Given the description of an element on the screen output the (x, y) to click on. 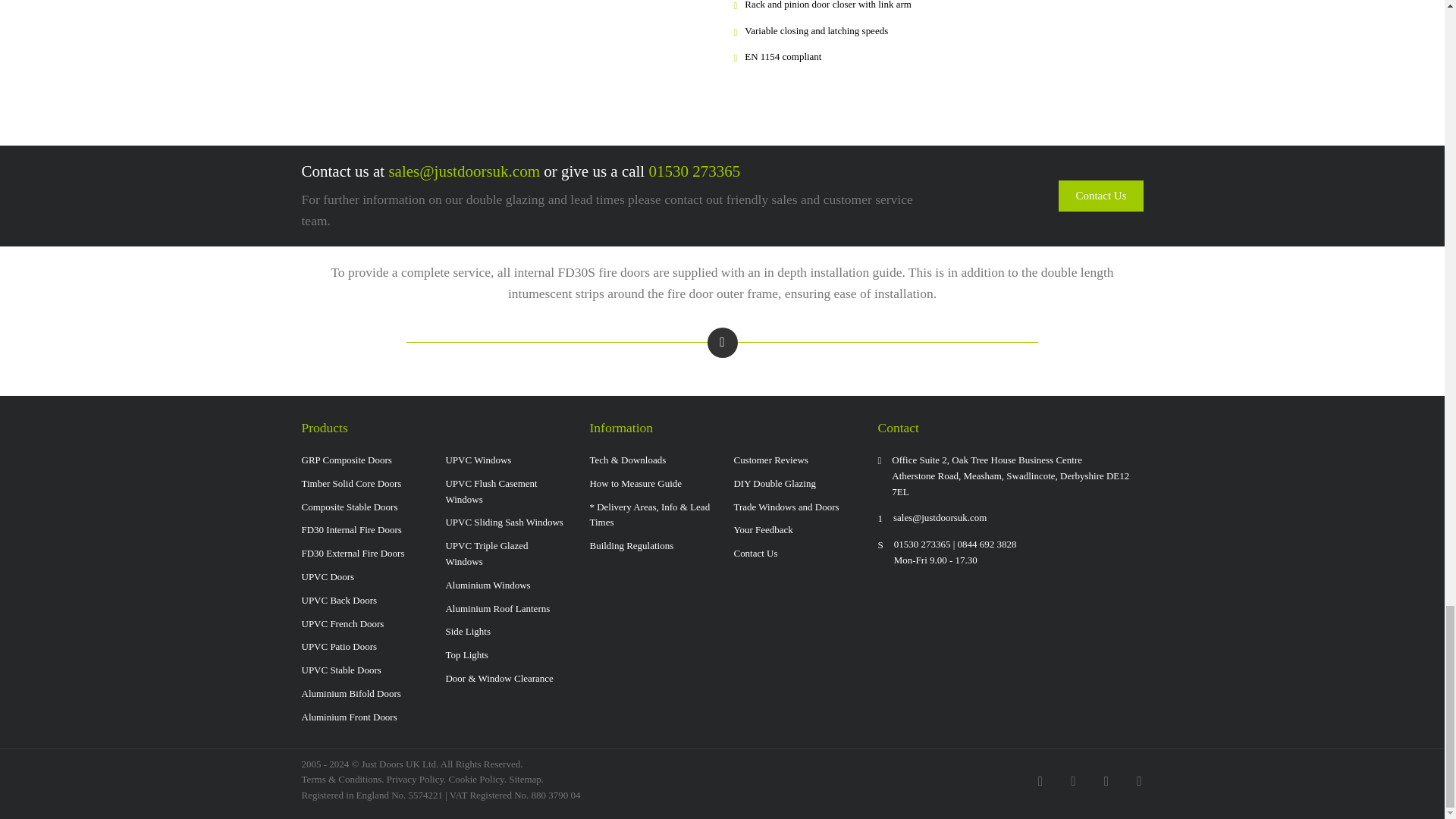
just doors uk twitter page (1073, 779)
just doors uk linkedin page (1139, 779)
just doors uk facebook page (1040, 779)
just doors uk pinterest page (1106, 779)
